Given the description of an element on the screen output the (x, y) to click on. 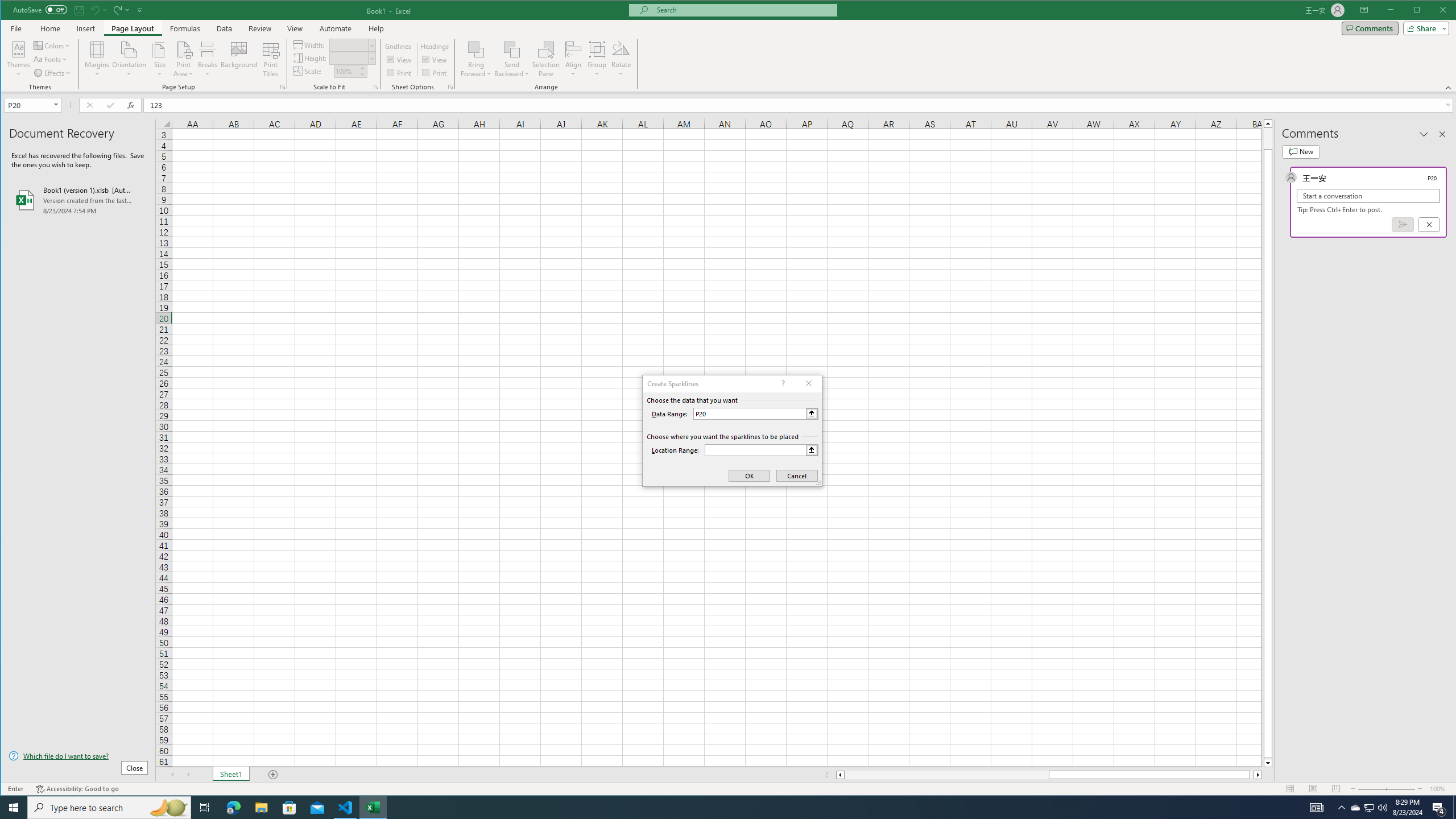
Page Setup (375, 86)
Start a conversation (1368, 195)
